Given the description of an element on the screen output the (x, y) to click on. 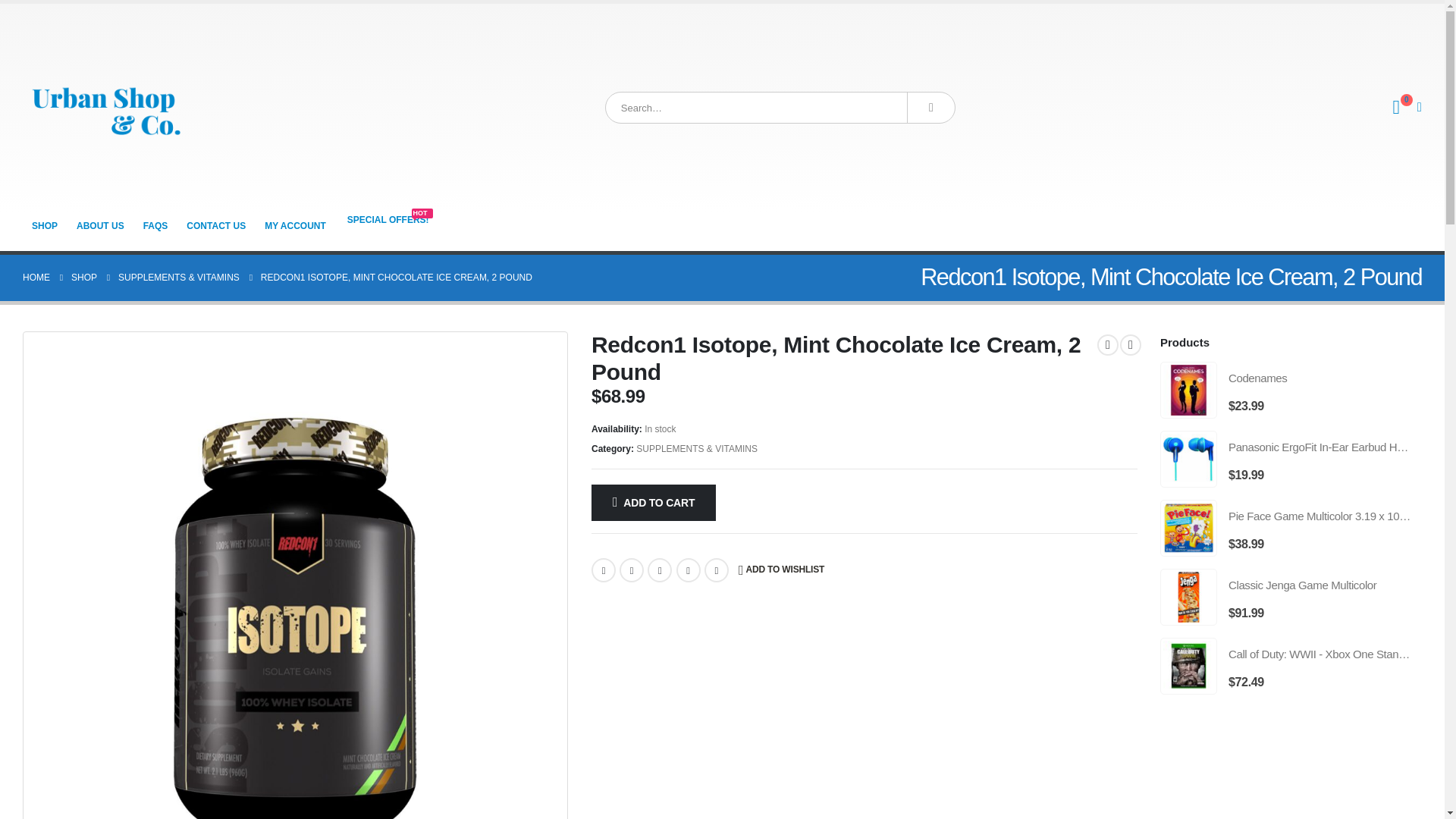
Go to Home Page (36, 277)
LinkedIn (659, 569)
SHOP (44, 225)
CONTACT US (215, 225)
URBAN SHOP Co - Global E-Commerce Store (106, 107)
ADD TO WISHLIST (781, 569)
ADD TO CART (653, 502)
Email (716, 569)
Facebook (603, 569)
HOME (36, 277)
SHOP (84, 277)
Search (388, 219)
FAQS (931, 107)
